Given the description of an element on the screen output the (x, y) to click on. 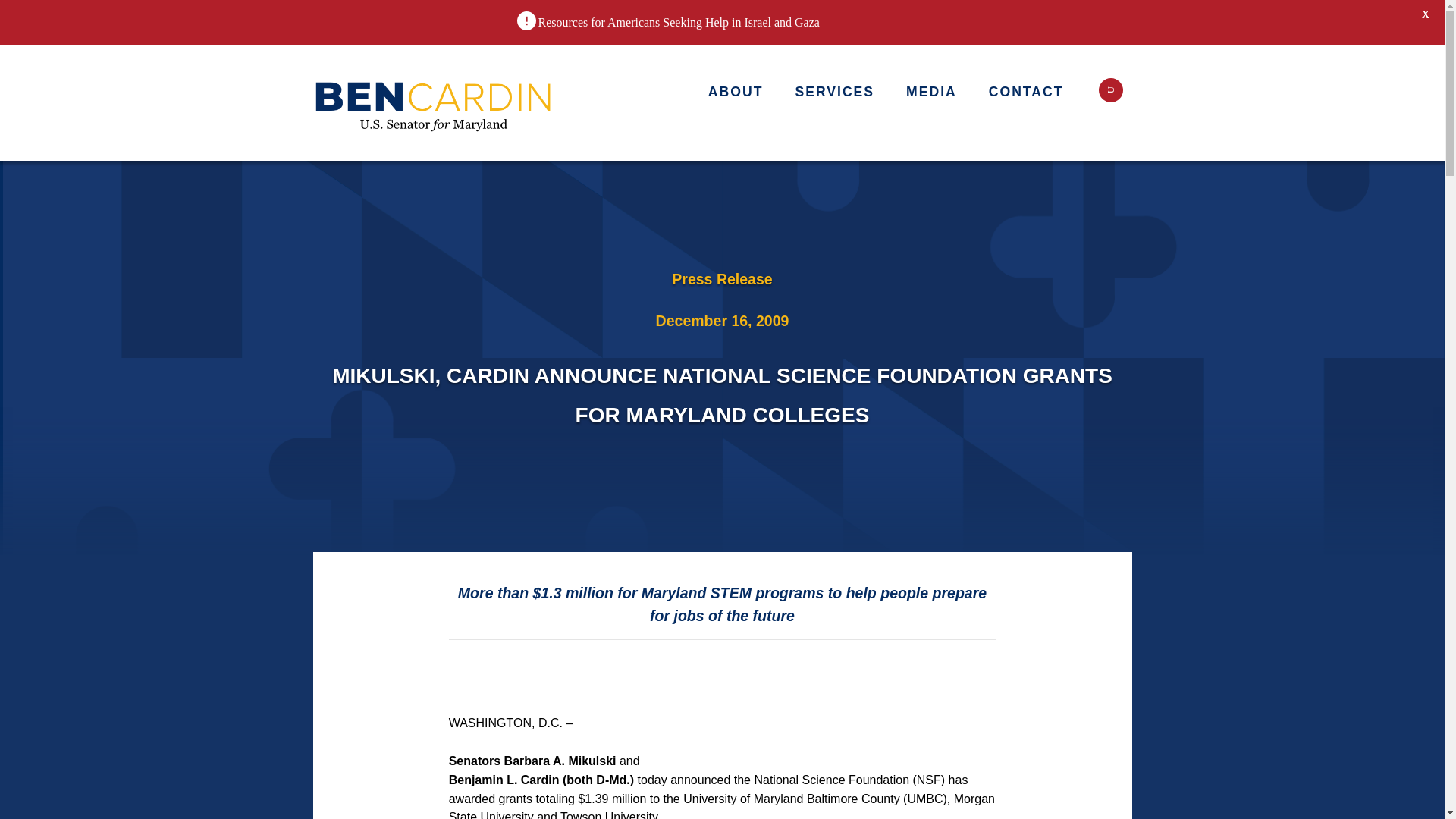
Large-Inner (433, 102)
